Given the description of an element on the screen output the (x, y) to click on. 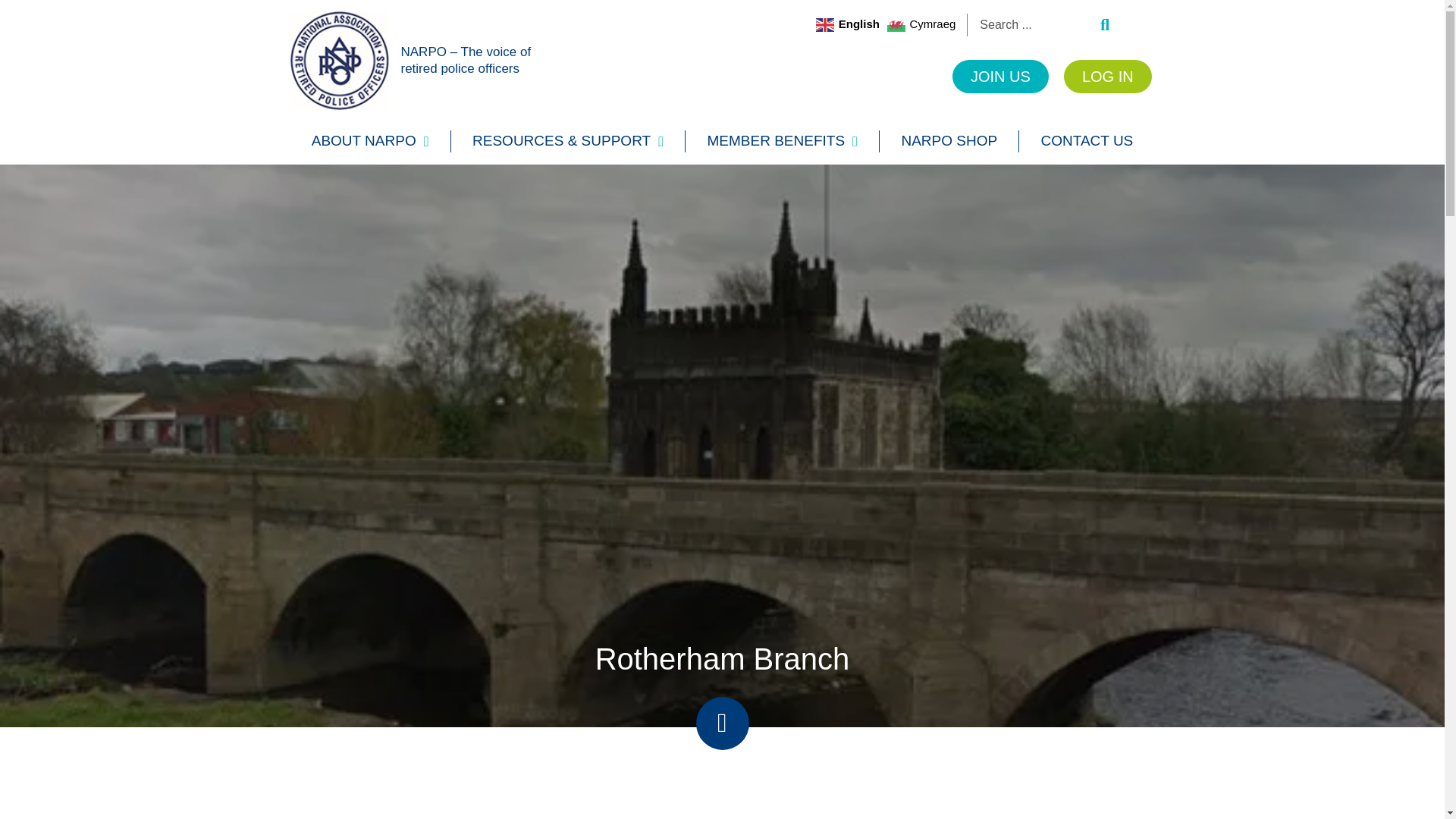
ABOUT NARPO (369, 141)
LOG IN (1107, 76)
English (848, 23)
JOIN US (1000, 76)
Cymraeg (922, 23)
